Given the description of an element on the screen output the (x, y) to click on. 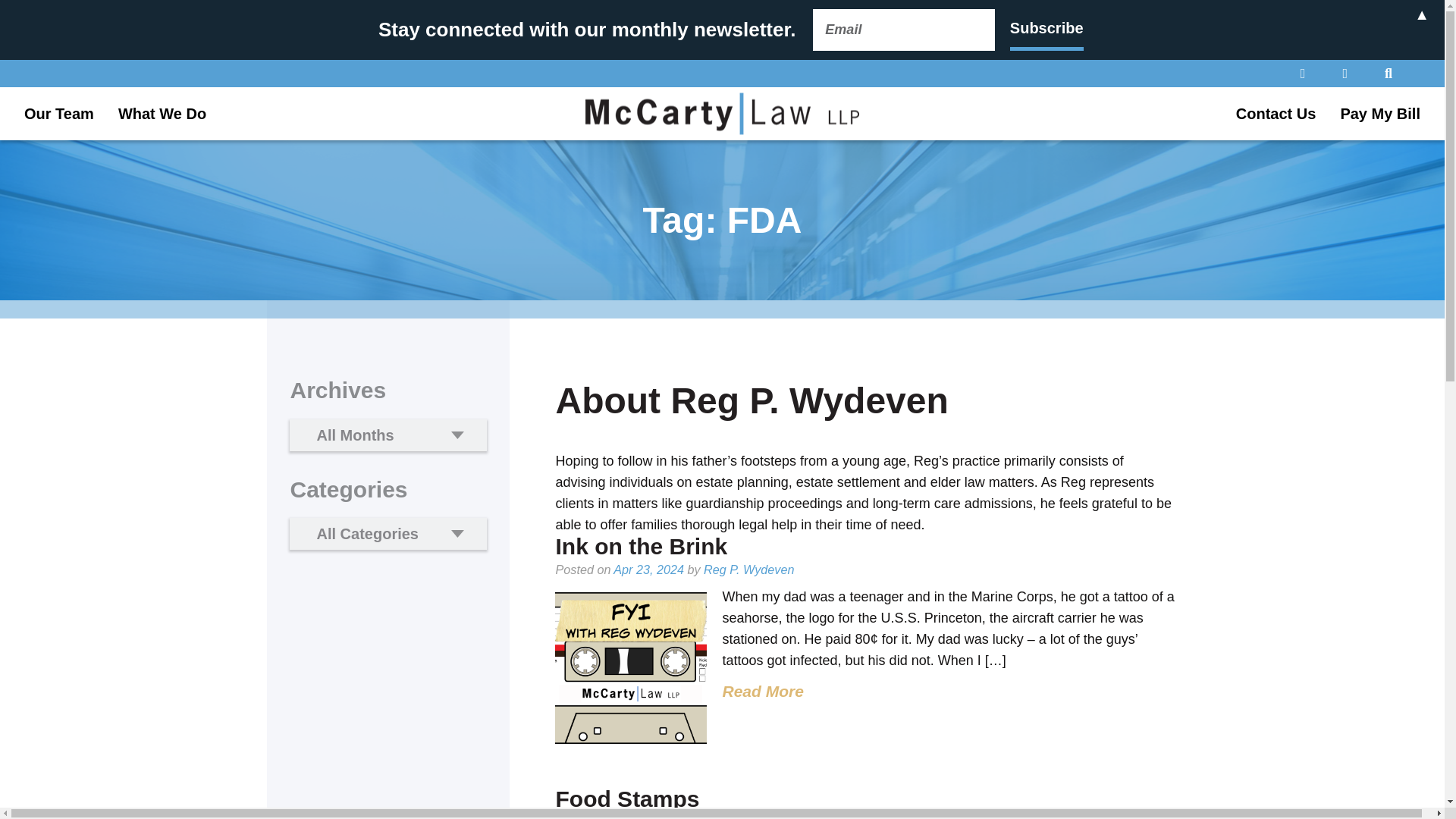
Search (21, 7)
Subscribe (1046, 29)
Posts by Reg P. Wydeven (751, 816)
Posts by Reg P. Wydeven (748, 569)
